Given the description of an element on the screen output the (x, y) to click on. 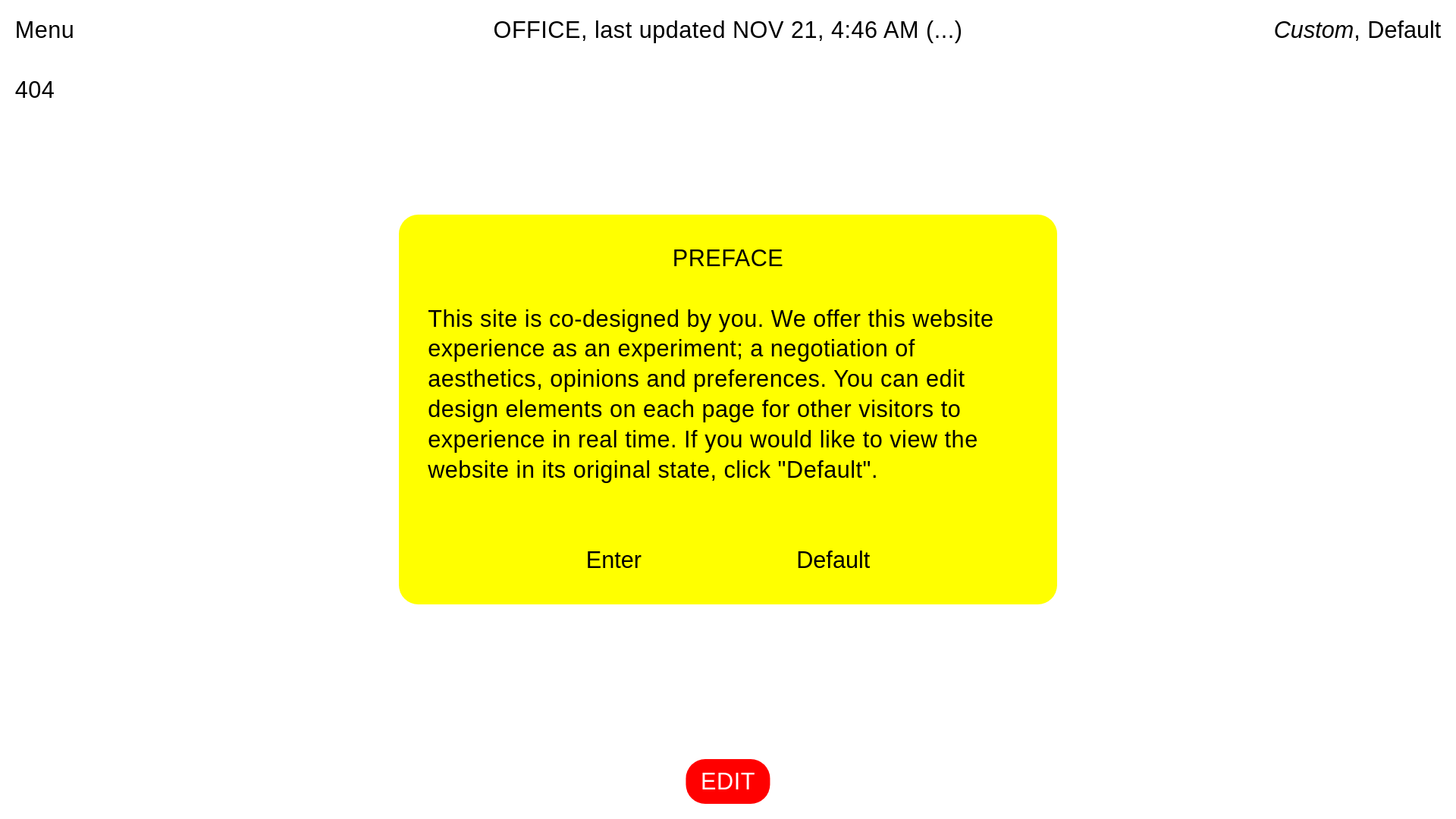
Enter Element type: text (613, 560)
OFFICE Element type: text (633, 30)
Default Element type: text (1403, 30)
Custom Element type: text (1314, 30)
Default Element type: text (832, 560)
